Given the description of an element on the screen output the (x, y) to click on. 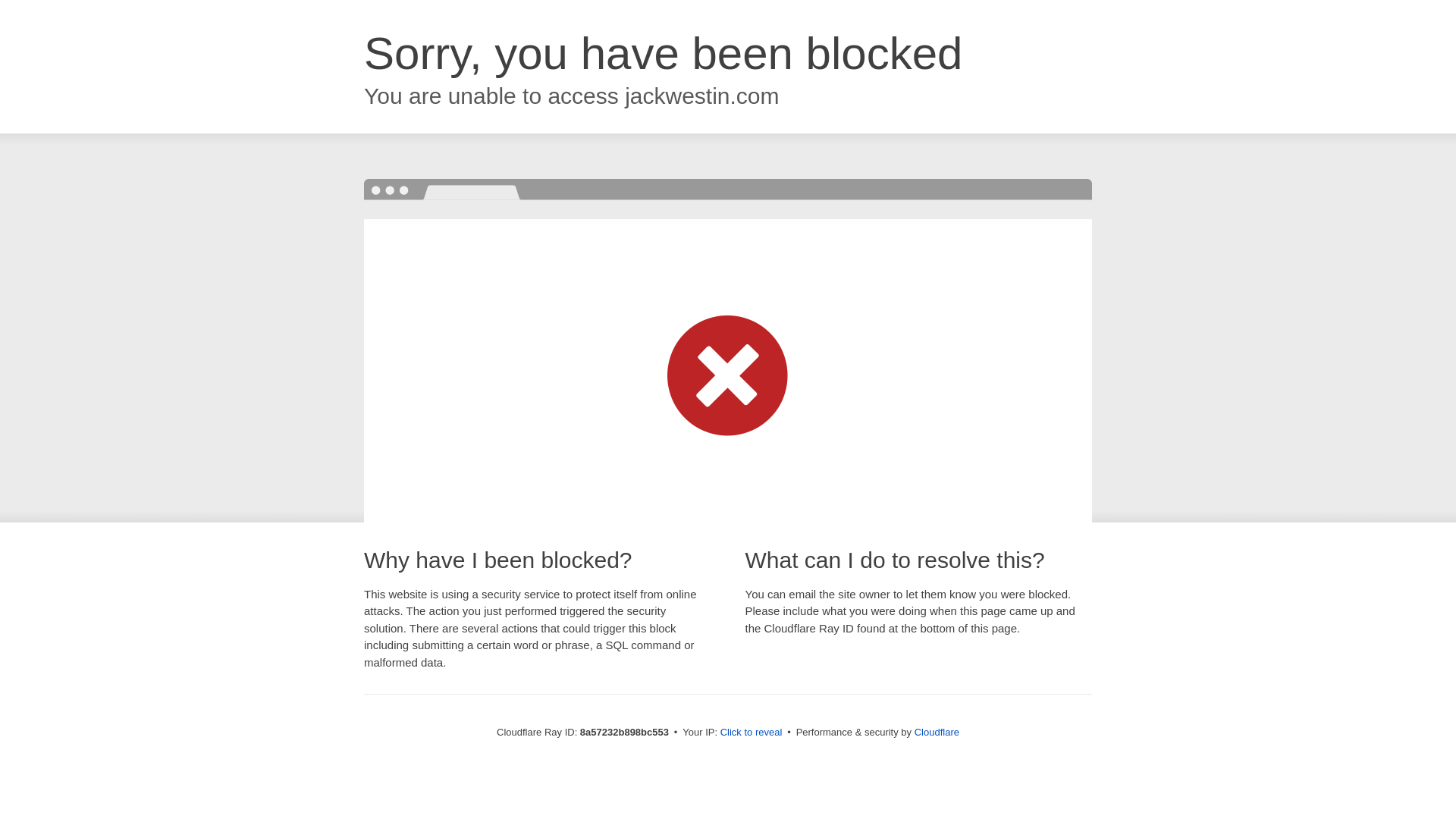
Cloudflare (936, 731)
Click to reveal (751, 732)
